Given the description of an element on the screen output the (x, y) to click on. 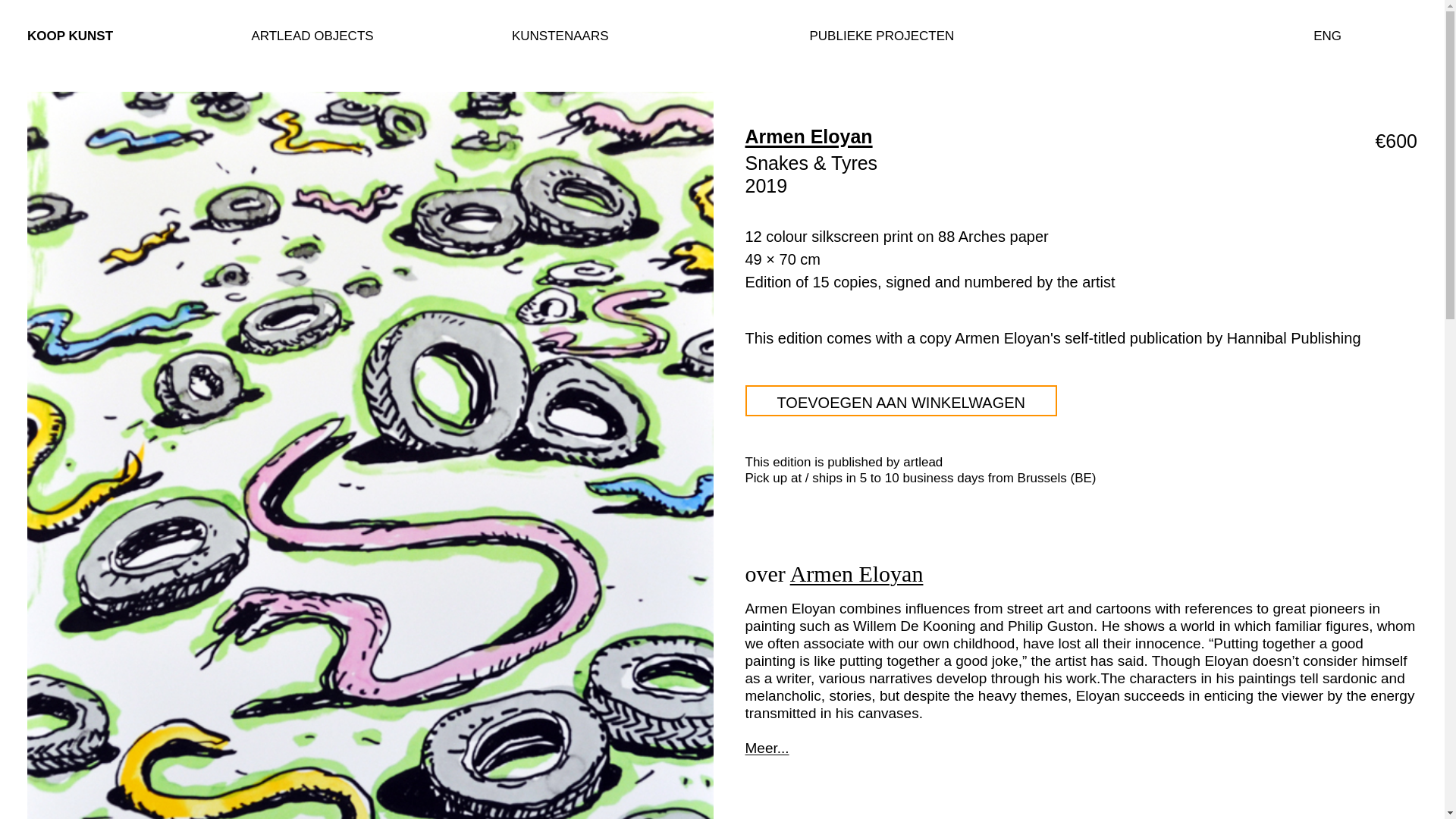
ARTLEAD OBJECTS (311, 35)
Armen Eloyan (808, 136)
PUBLIEKE PROJECTEN (882, 35)
KOOP KUNST (70, 35)
Meer... (1080, 738)
KUNSTENAARS (560, 35)
artlead (722, 35)
TOEVOEGEN AAN WINKELWAGEN (900, 400)
Armen Eloyan (856, 573)
